Given the description of an element on the screen output the (x, y) to click on. 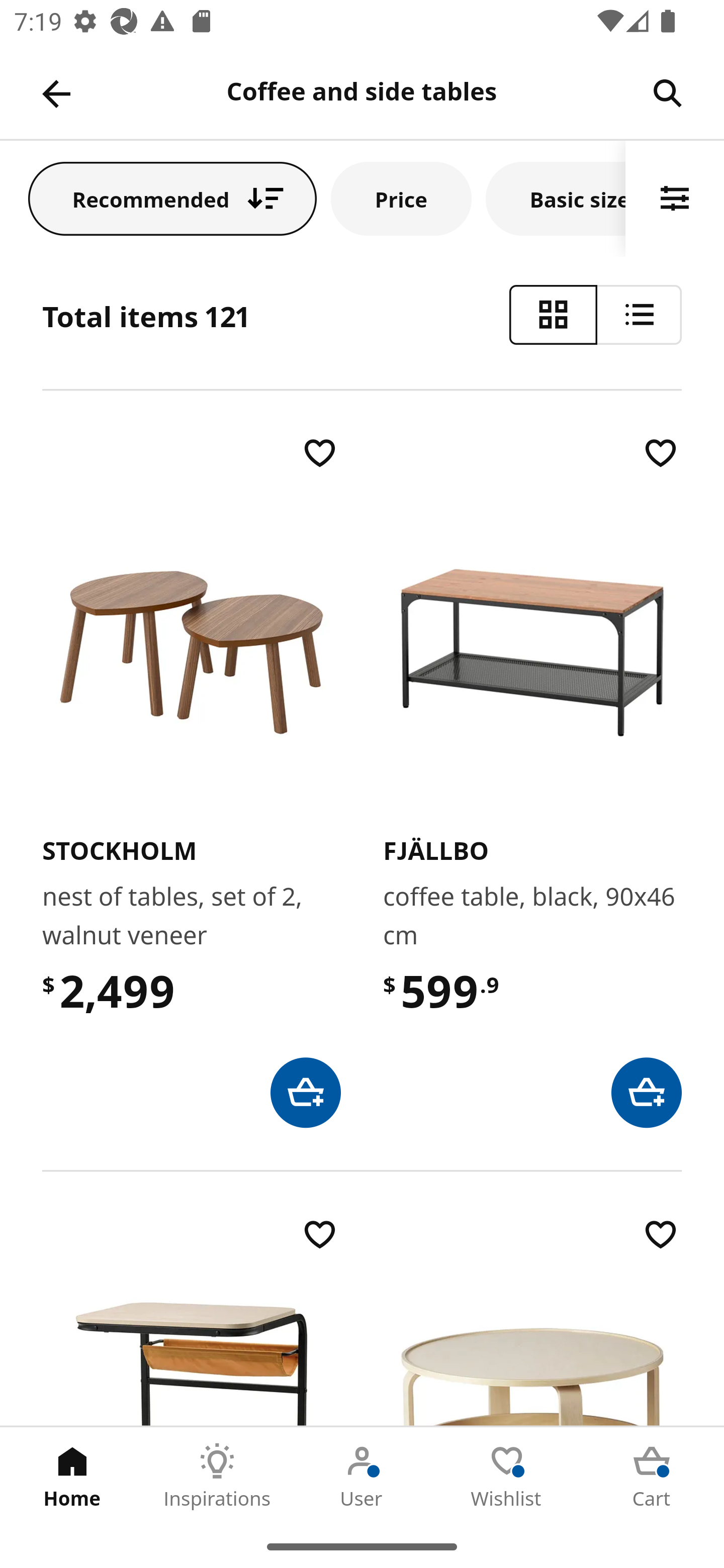
Recommended (172, 198)
Price (400, 198)
Basic sizes (555, 198)
Home
Tab 1 of 5 (72, 1476)
Inspirations
Tab 2 of 5 (216, 1476)
User
Tab 3 of 5 (361, 1476)
Wishlist
Tab 4 of 5 (506, 1476)
Cart
Tab 5 of 5 (651, 1476)
